Given the description of an element on the screen output the (x, y) to click on. 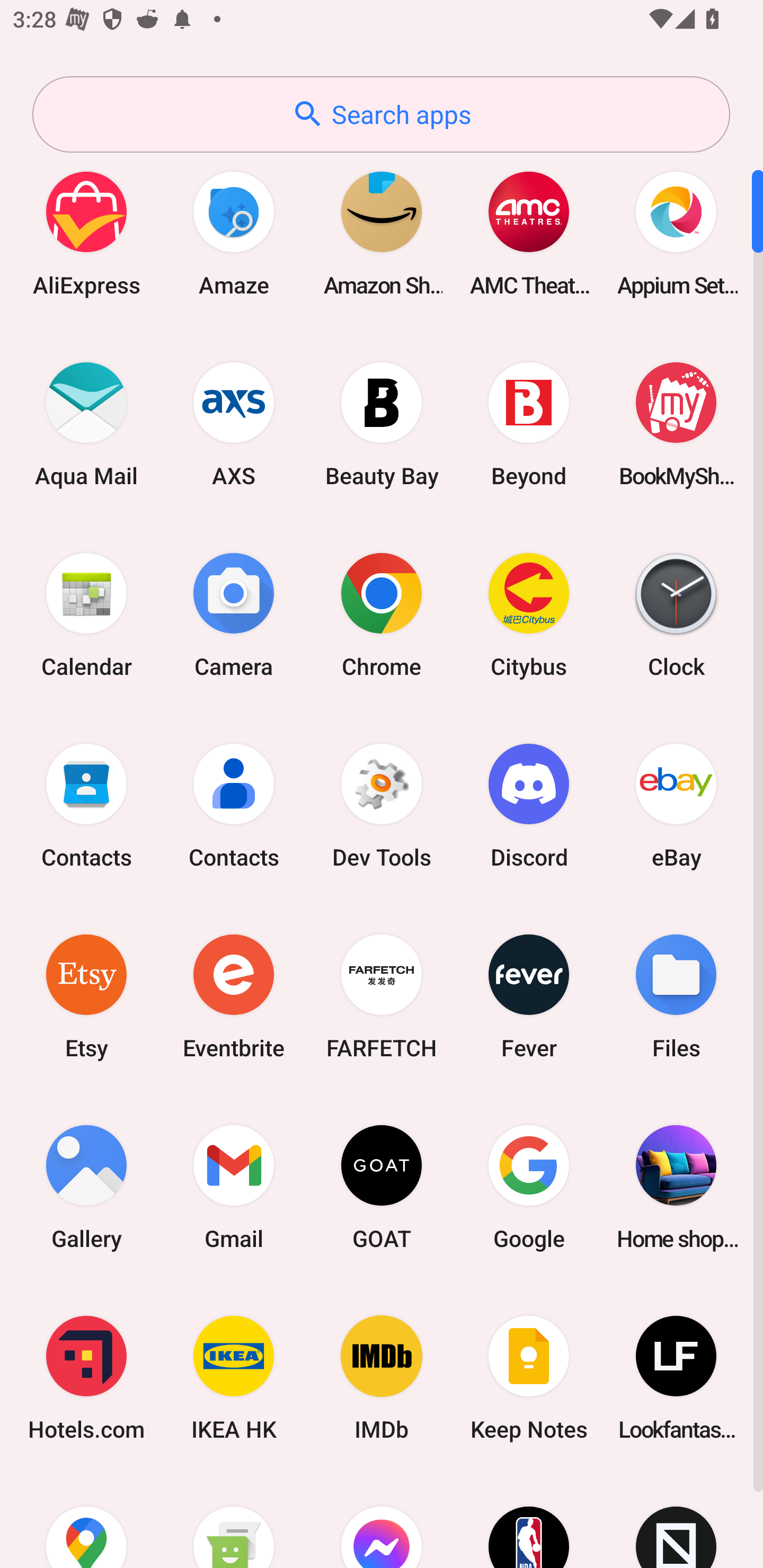
  Search apps (381, 114)
AliExpress (86, 233)
Amaze (233, 233)
Amazon Shopping (381, 233)
AMC Theatres (528, 233)
Appium Settings (676, 233)
Aqua Mail (86, 424)
AXS (233, 424)
Beauty Bay (381, 424)
Beyond (528, 424)
BookMyShow (676, 424)
Calendar (86, 614)
Camera (233, 614)
Chrome (381, 614)
Citybus (528, 614)
Clock (676, 614)
Contacts (86, 805)
Contacts (233, 805)
Dev Tools (381, 805)
Discord (528, 805)
eBay (676, 805)
Etsy (86, 996)
Eventbrite (233, 996)
FARFETCH (381, 996)
Fever (528, 996)
Files (676, 996)
Gallery (86, 1186)
Gmail (233, 1186)
GOAT (381, 1186)
Google (528, 1186)
Home shopping (676, 1186)
Hotels.com (86, 1377)
IKEA HK (233, 1377)
IMDb (381, 1377)
Keep Notes (528, 1377)
Lookfantastic (676, 1377)
Maps (86, 1520)
Messaging (233, 1520)
Messenger (381, 1520)
NBA (528, 1520)
Novelship (676, 1520)
